Given the description of an element on the screen output the (x, y) to click on. 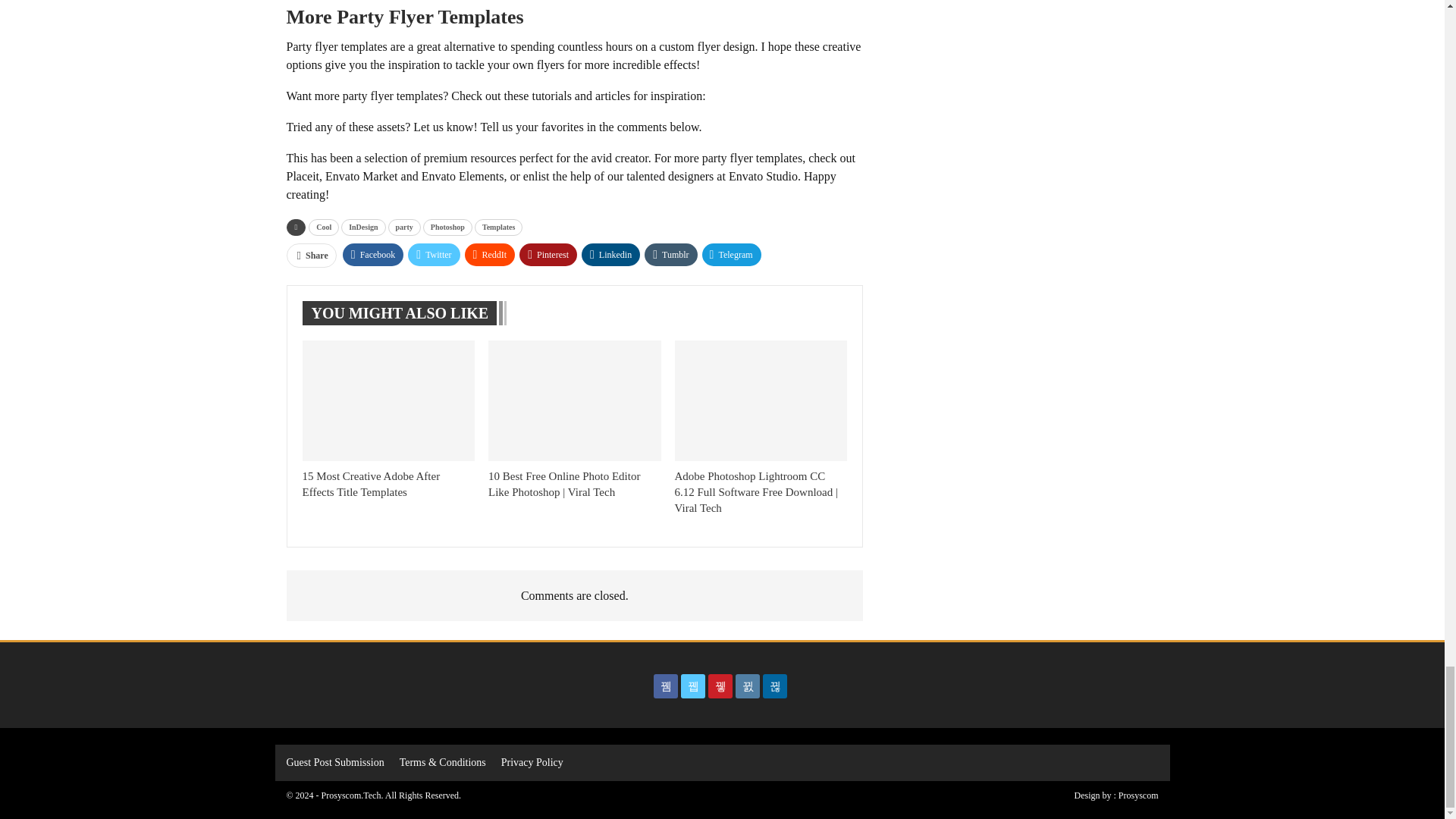
party (404, 227)
Templates (498, 227)
15 Most Creative Adobe After Effects Title Templates (370, 483)
Twitter (433, 254)
15 Most Creative Adobe After Effects Title Templates (370, 483)
15 Most Creative Adobe After Effects Title Templates (387, 400)
Tumblr (671, 254)
Photoshop (447, 227)
Facebook (373, 254)
Pinterest (547, 254)
